Given the description of an element on the screen output the (x, y) to click on. 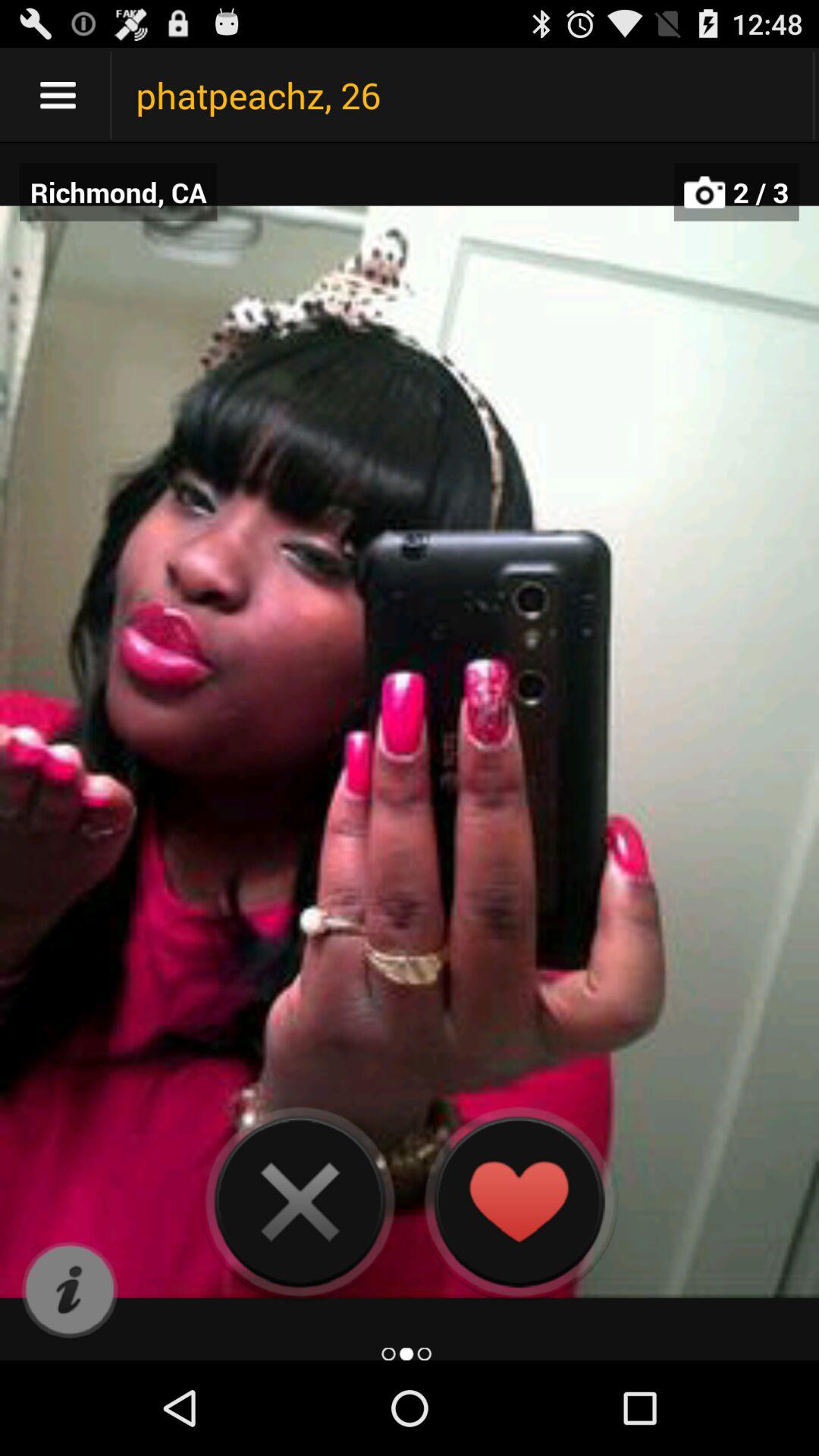
show info (69, 1290)
